Given the description of an element on the screen output the (x, y) to click on. 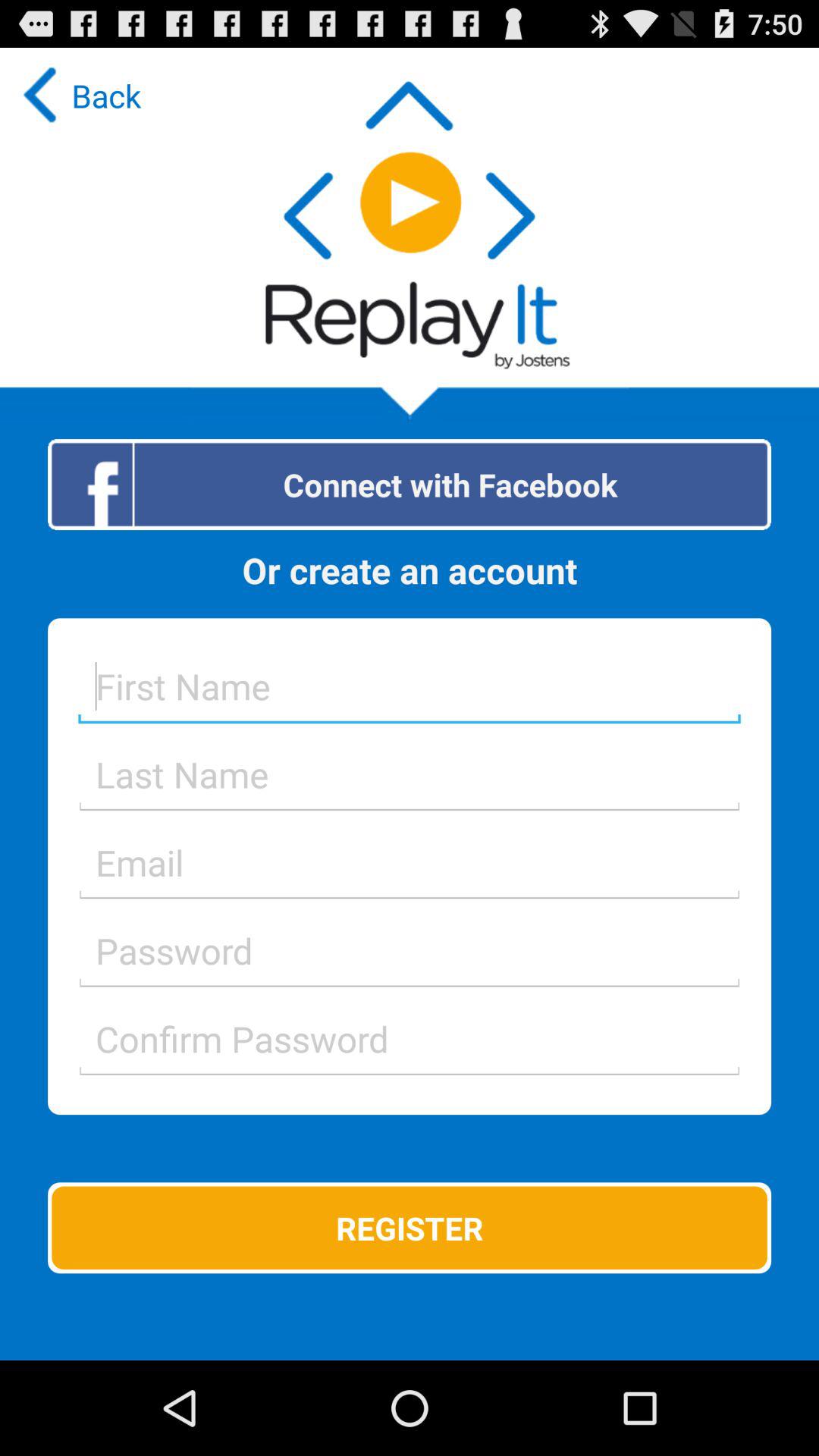
scroll to the register item (409, 1227)
